Given the description of an element on the screen output the (x, y) to click on. 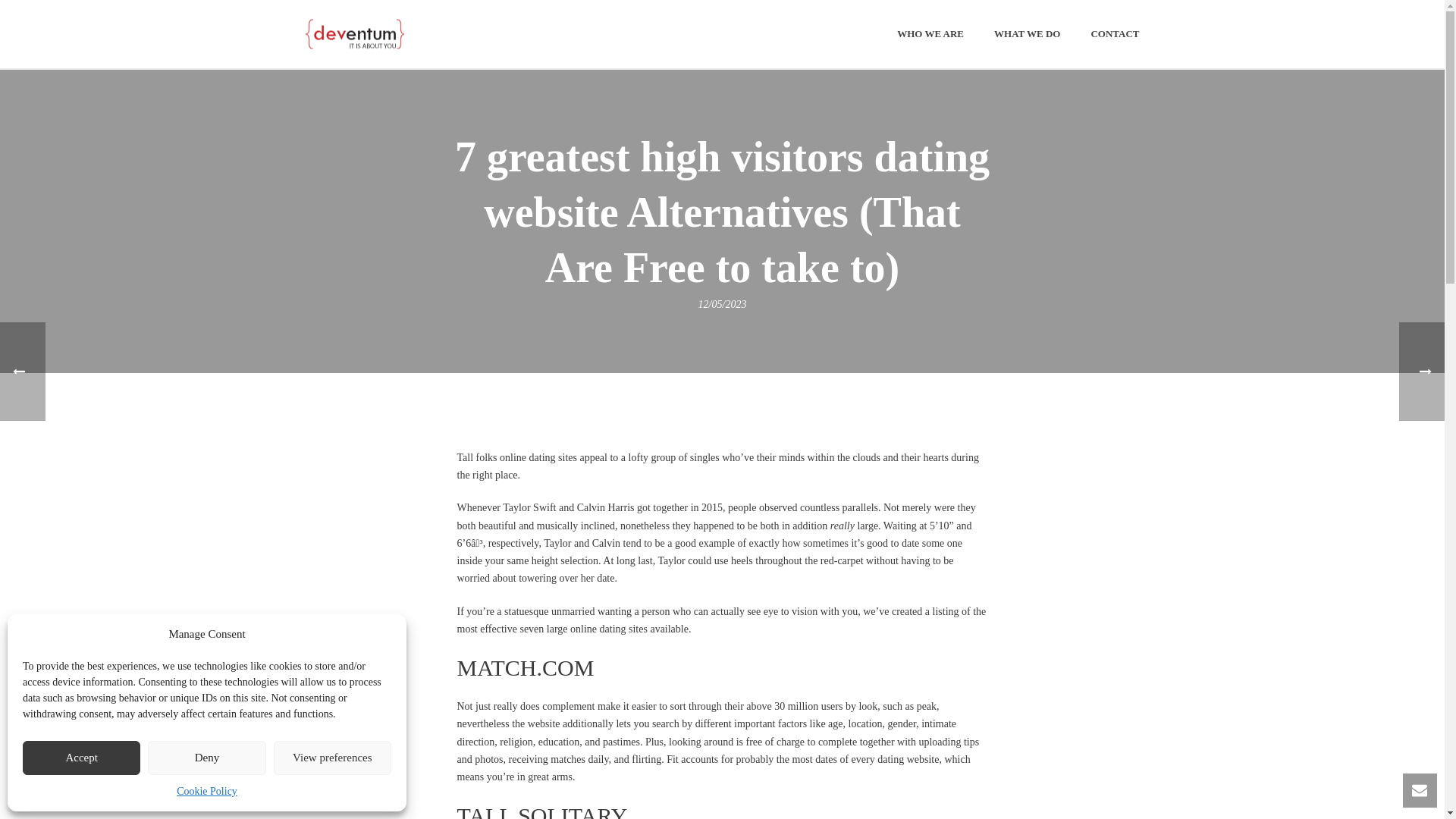
WHAT WE DO (1026, 34)
WHO WE ARE (930, 34)
WHO WE ARE (930, 34)
CONTACT (1114, 34)
Cookie Policy (206, 791)
A full service digital marketing agency (353, 34)
Accept (81, 757)
Deny (206, 757)
CONTACT (1114, 34)
WHAT WE DO (1026, 34)
View preferences (332, 757)
